Given the description of an element on the screen output the (x, y) to click on. 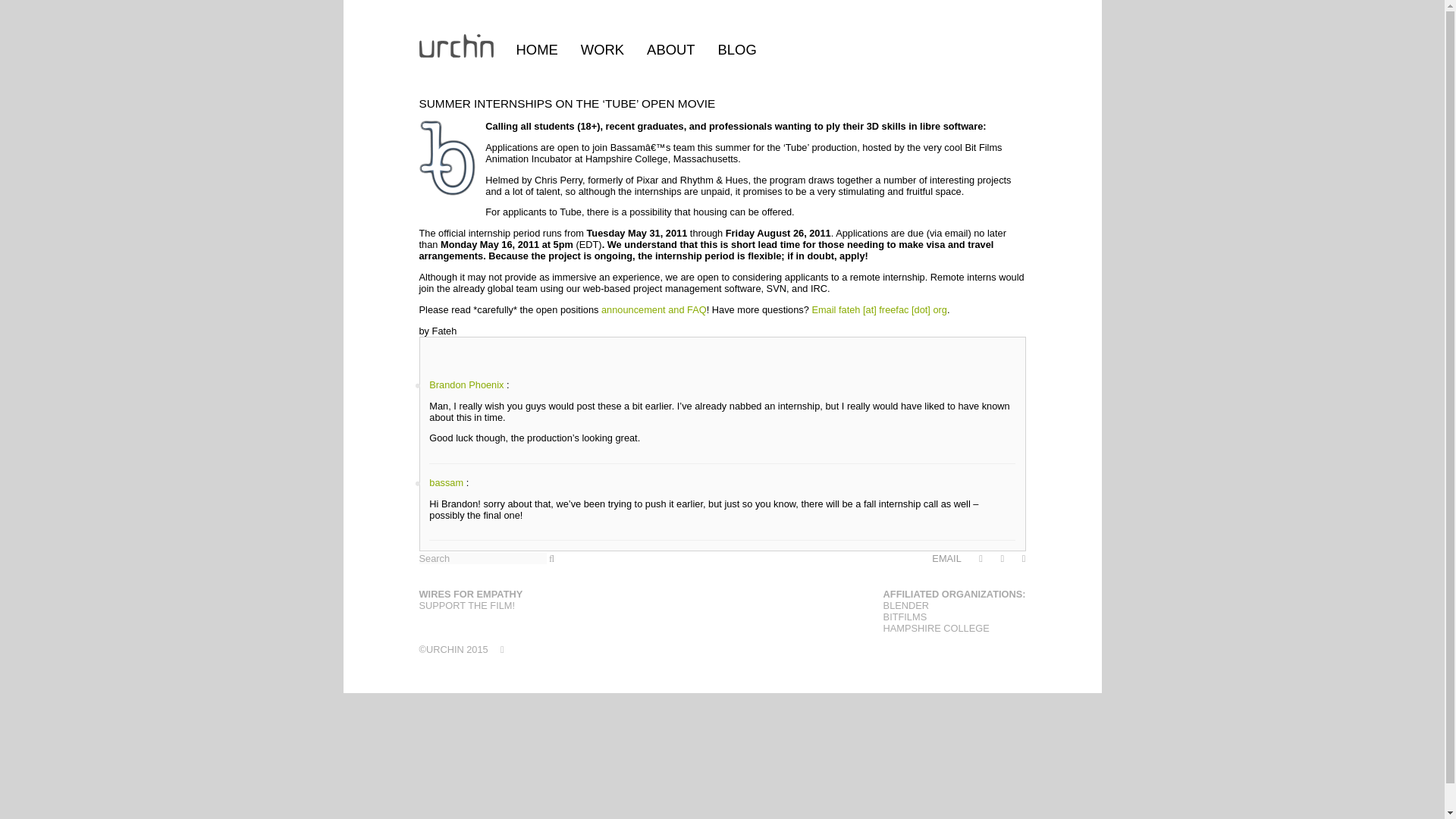
announcement and FAQ (653, 309)
ABOUT (670, 49)
EMAIL (945, 558)
WORK (602, 49)
HAMPSHIRE COLLEGE (936, 627)
WIRES FOR EMPATHY (470, 593)
bassam (446, 482)
HOME (536, 49)
SUPPORT THE FILM! (467, 604)
BLENDER (905, 604)
Brandon Phoenix (466, 384)
BITFILMS (905, 616)
Search (482, 558)
BLOG (737, 49)
